Given the description of an element on the screen output the (x, y) to click on. 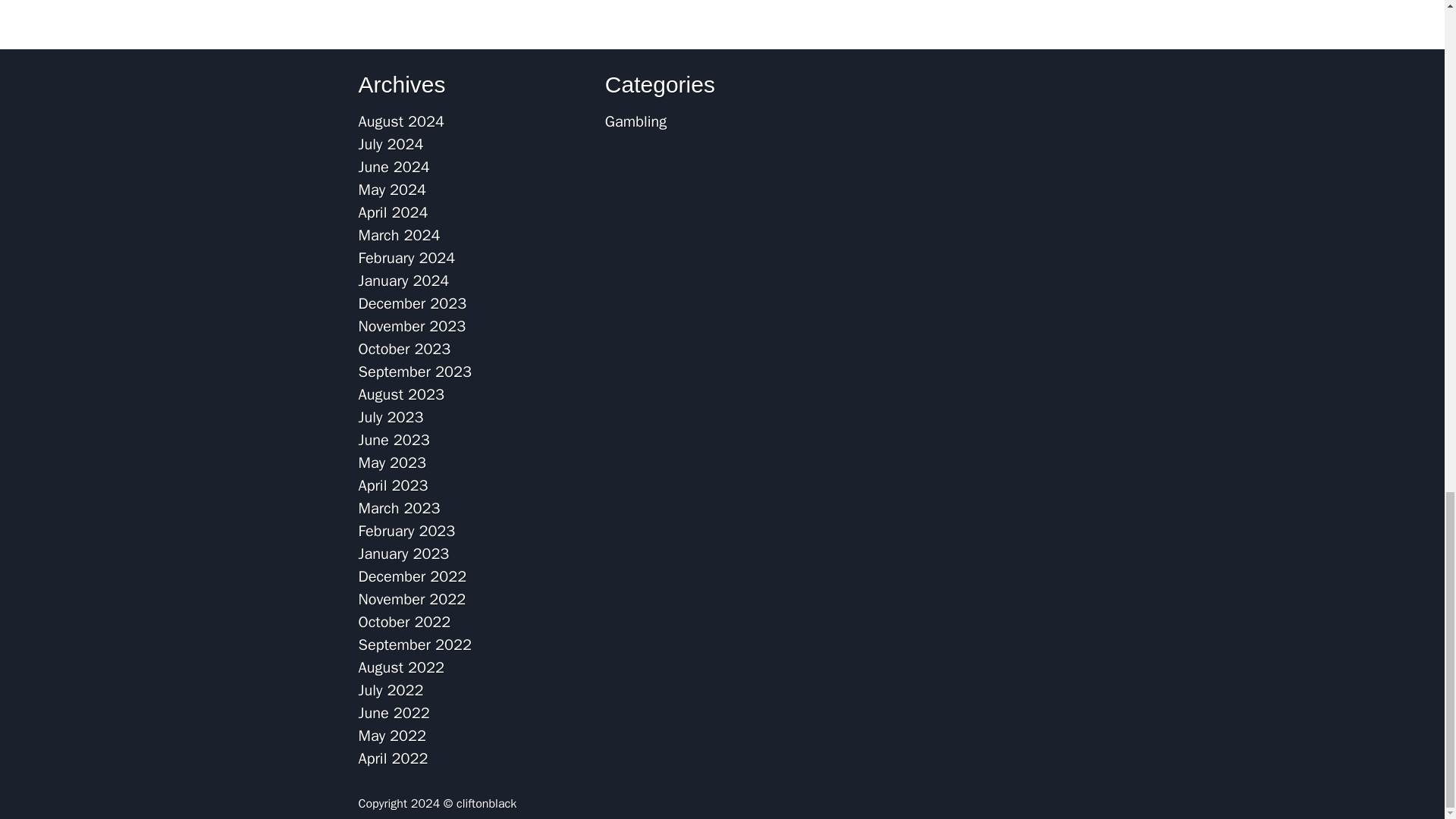
August 2022 (401, 667)
April 2024 (393, 212)
April 2023 (393, 485)
November 2023 (411, 325)
December 2022 (411, 576)
June 2024 (393, 167)
August 2024 (401, 121)
July 2023 (390, 416)
June 2022 (393, 712)
September 2022 (414, 644)
